Given the description of an element on the screen output the (x, y) to click on. 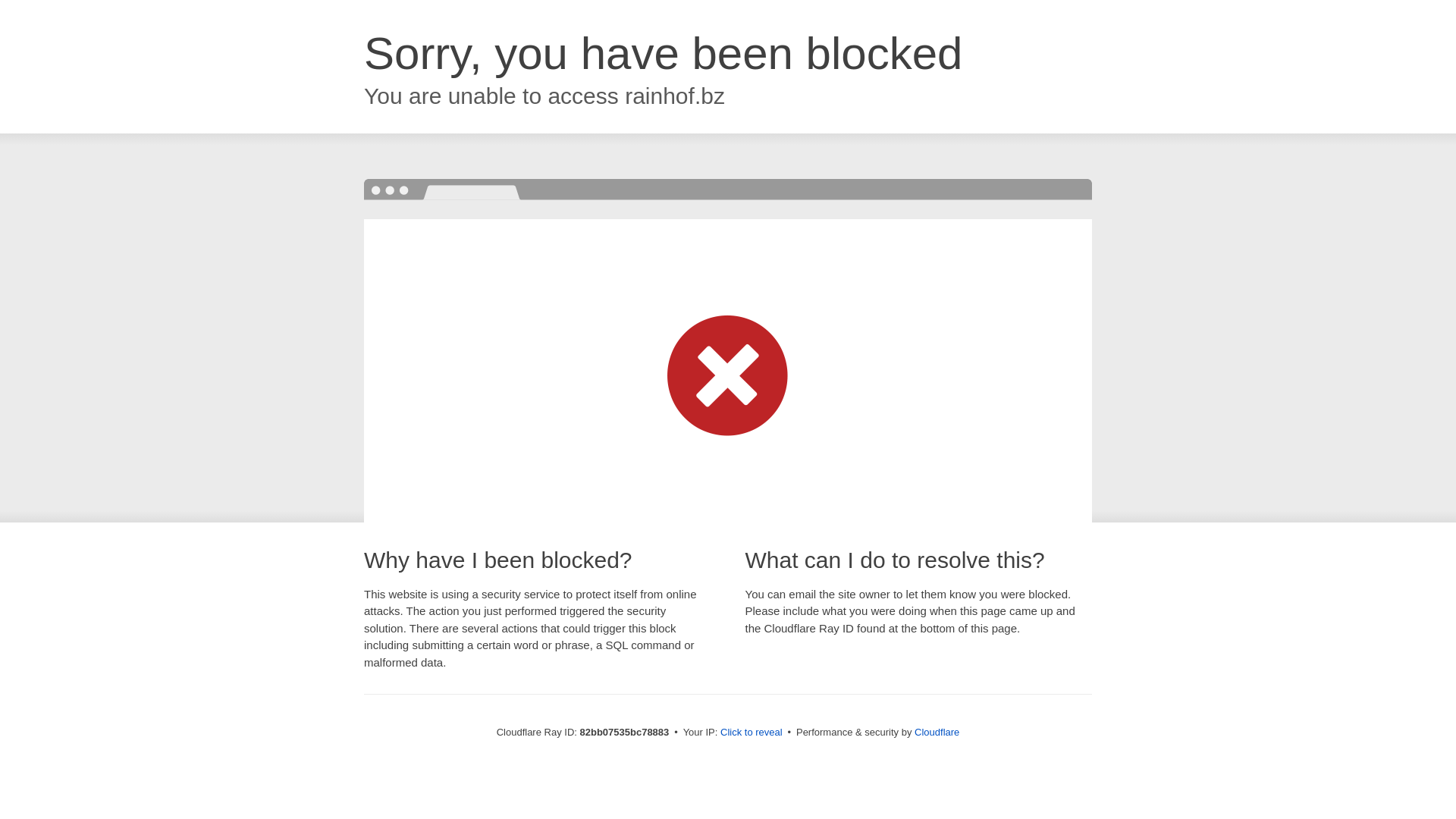
Click to reveal Element type: text (751, 732)
Cloudflare Element type: text (936, 731)
